Given the description of an element on the screen output the (x, y) to click on. 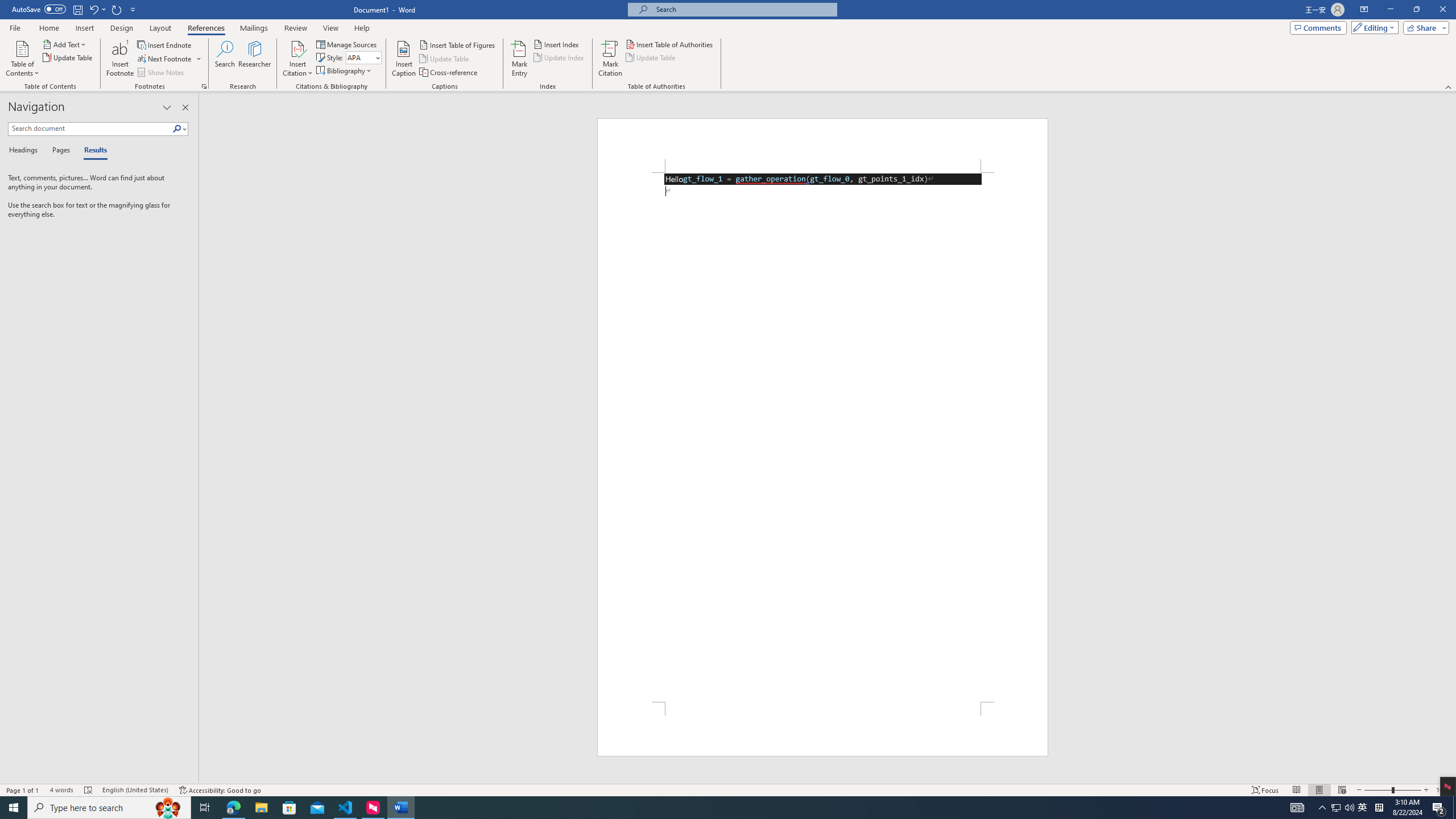
Cross-reference... (448, 72)
Mark Citation... (610, 58)
Undo Underline Style (92, 9)
Collapse the Ribbon (1448, 86)
Repeat Underline Style (117, 9)
Style (363, 56)
